Given the description of an element on the screen output the (x, y) to click on. 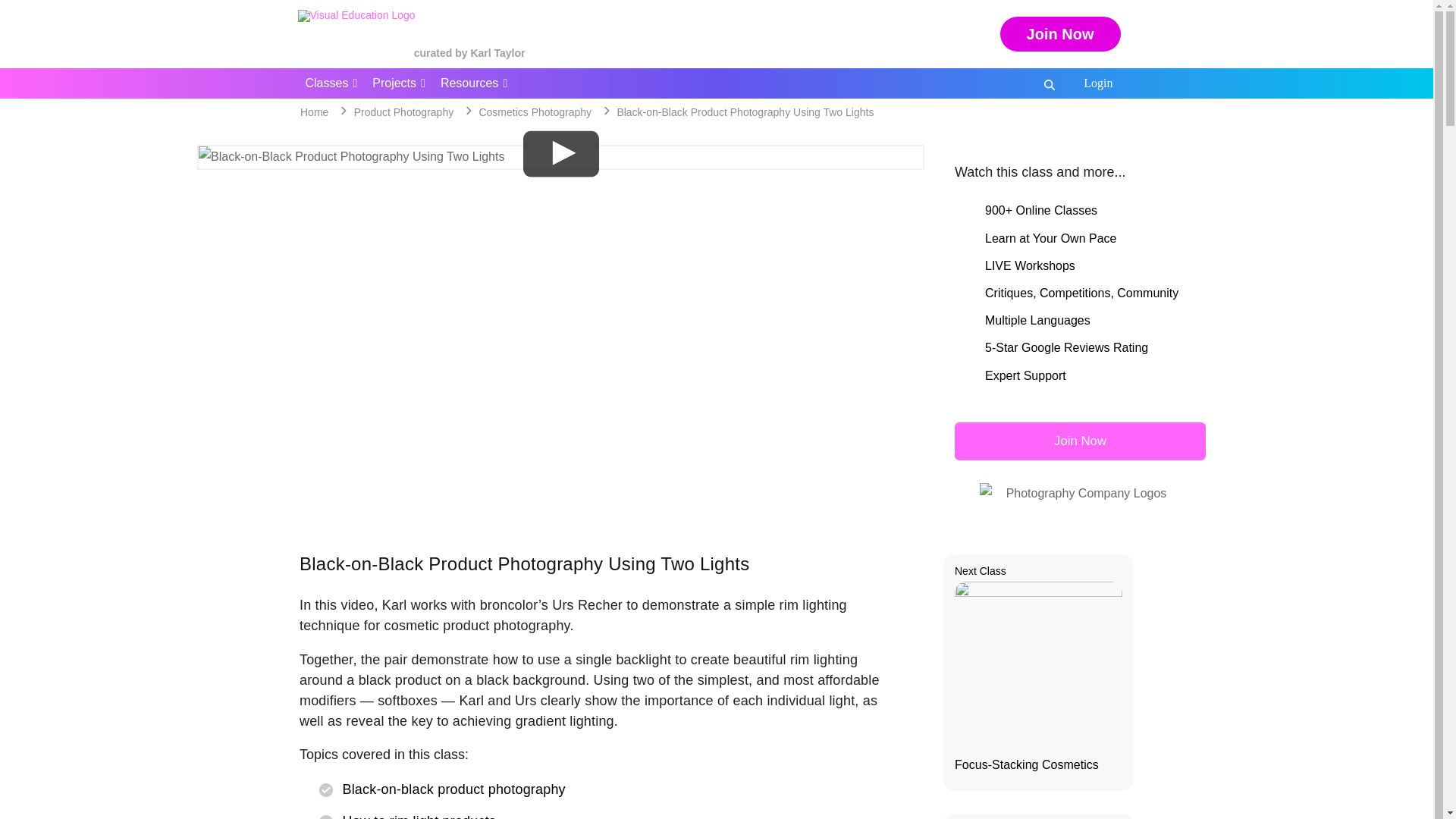
Classes (331, 82)
You Are Here (744, 112)
Join Now (1060, 33)
